Given the description of an element on the screen output the (x, y) to click on. 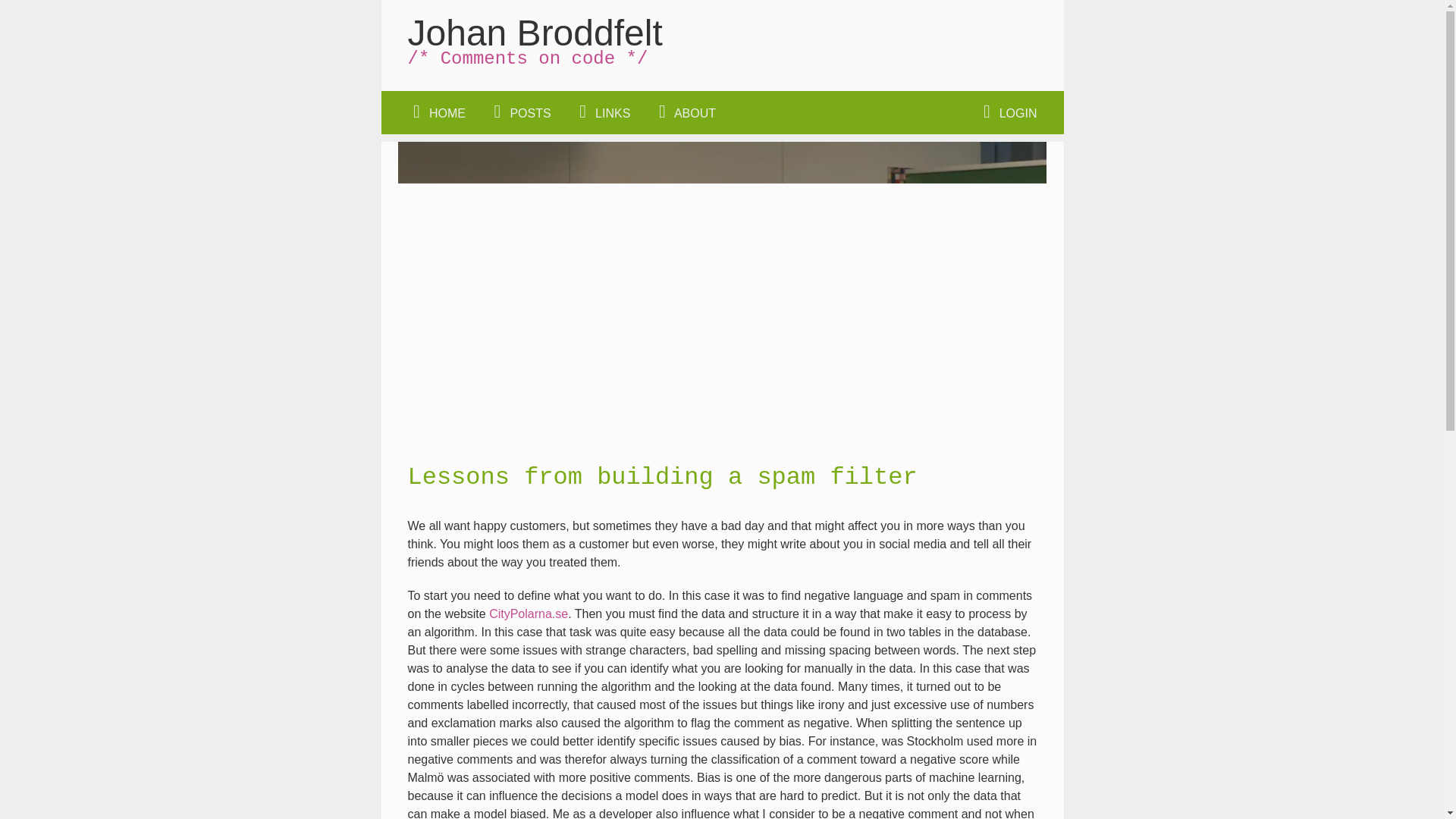
LINKS (602, 112)
POSTS (519, 112)
HOME (436, 112)
